Given the description of an element on the screen output the (x, y) to click on. 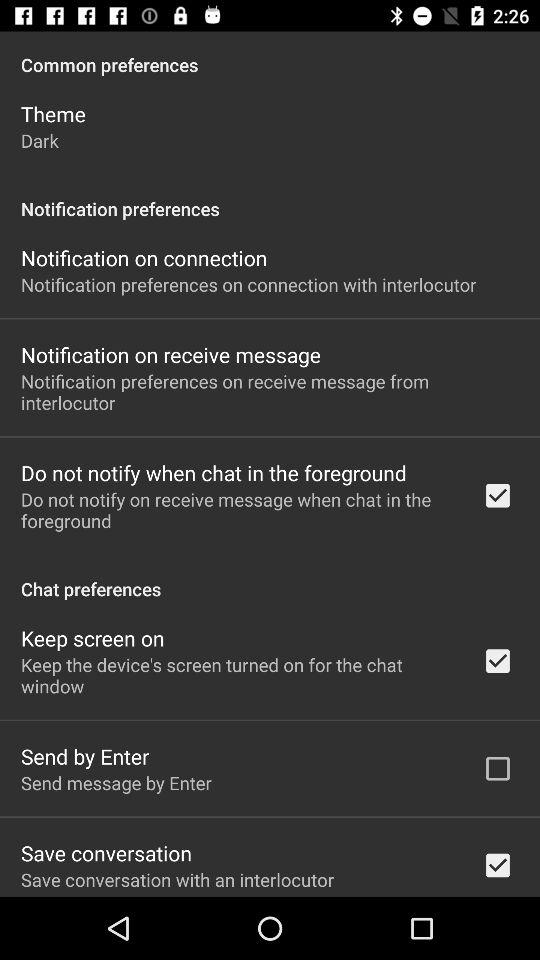
swipe until common preferences app (270, 54)
